Given the description of an element on the screen output the (x, y) to click on. 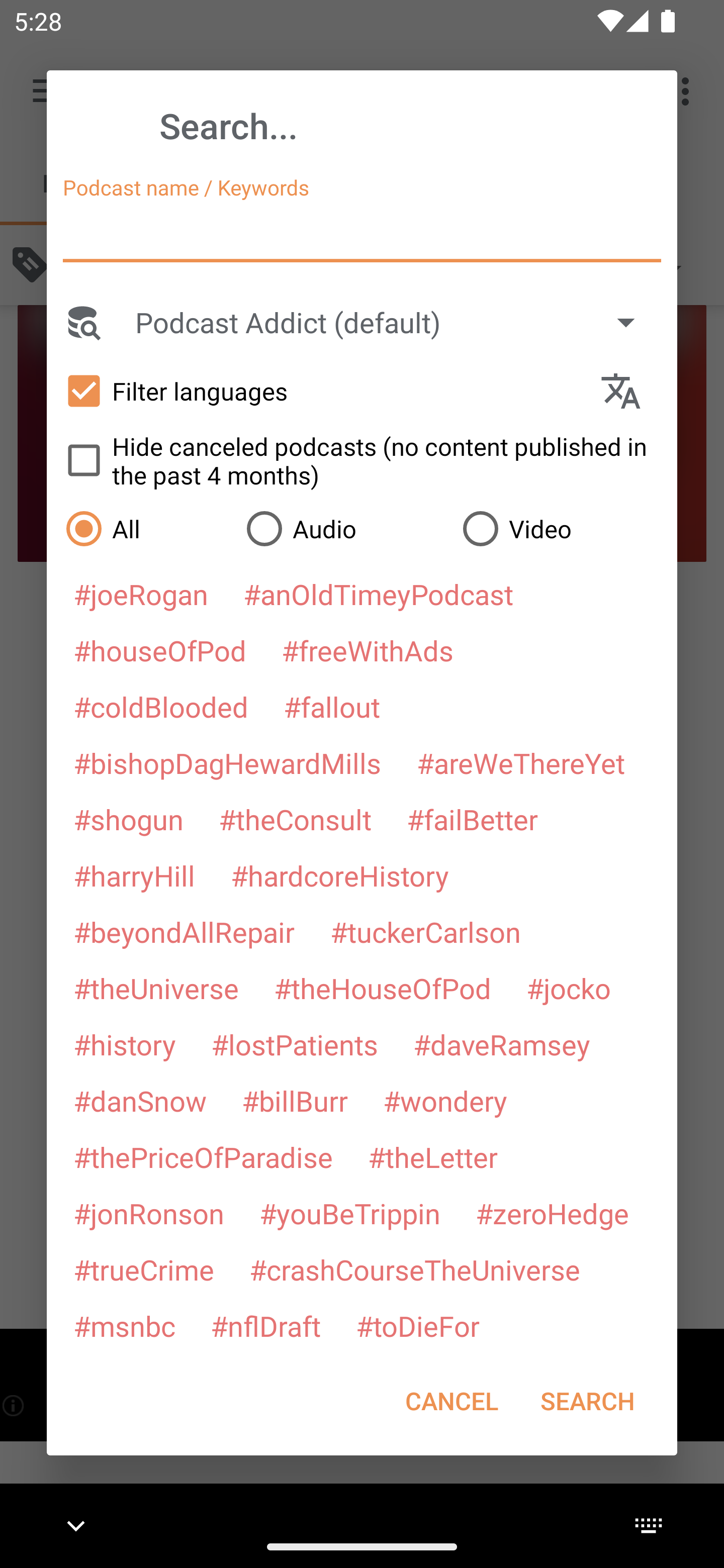
Podcast name / Keywords (361, 234)
Search Engine (82, 322)
Podcast Addict (default) (394, 322)
Languages selection (629, 390)
Filter languages (322, 390)
All (145, 528)
Audio (344, 528)
Video (560, 528)
#joeRogan (140, 594)
#anOldTimeyPodcast (378, 594)
#houseOfPod (159, 650)
#freeWithAds (367, 650)
#coldBlooded (160, 705)
#fallout (331, 705)
#bishopDagHewardMills (227, 762)
#areWeThereYet (521, 762)
#shogun (128, 818)
#theConsult (294, 818)
#failBetter (471, 818)
#harryHill (134, 875)
#hardcoreHistory (339, 875)
#beyondAllRepair (184, 931)
#tuckerCarlson (425, 931)
#theUniverse (155, 987)
#theHouseOfPod (381, 987)
#jocko (568, 987)
#history (124, 1044)
#lostPatients (294, 1044)
#daveRamsey (501, 1044)
#danSnow (139, 1100)
#billBurr (294, 1100)
#wondery (444, 1100)
#thePriceOfParadise (203, 1157)
#theLetter (432, 1157)
#jonRonson (148, 1213)
#youBeTrippin (349, 1213)
#zeroHedge (552, 1213)
#trueCrime (143, 1268)
#crashCourseTheUniverse (414, 1268)
#msnbc (124, 1325)
#nflDraft (265, 1325)
#toDieFor (417, 1325)
CANCEL (451, 1400)
SEARCH (587, 1400)
